Given the description of an element on the screen output the (x, y) to click on. 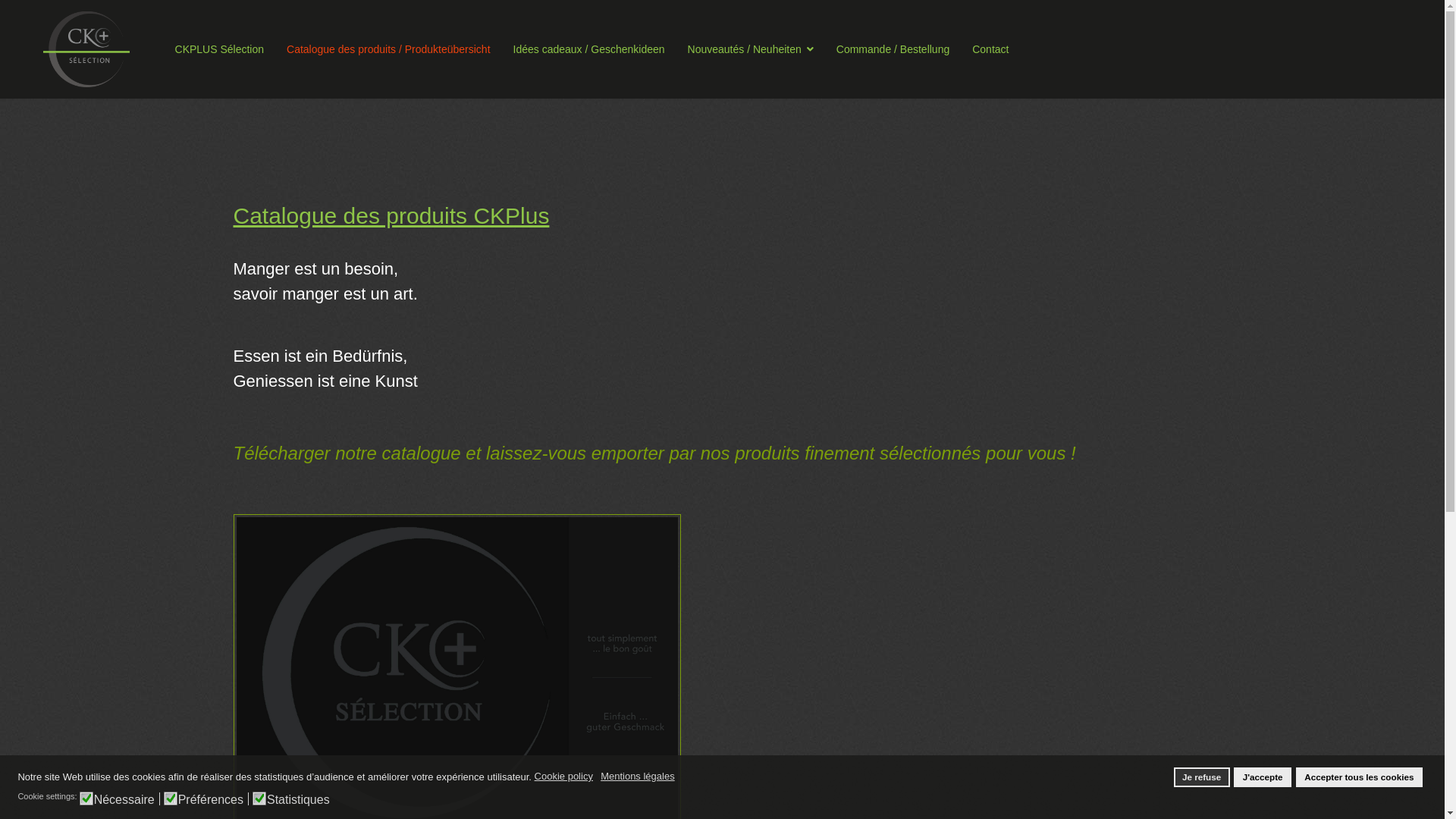
Statistiques Element type: text (300, 797)
Contact Element type: text (984, 49)
Accepter tous les cookies Element type: text (1358, 777)
Commande / Bestellung Element type: text (892, 49)
Je refuse Element type: text (1201, 777)
Cookie policy Element type: text (564, 776)
J'accepte Element type: text (1262, 777)
